Given the description of an element on the screen output the (x, y) to click on. 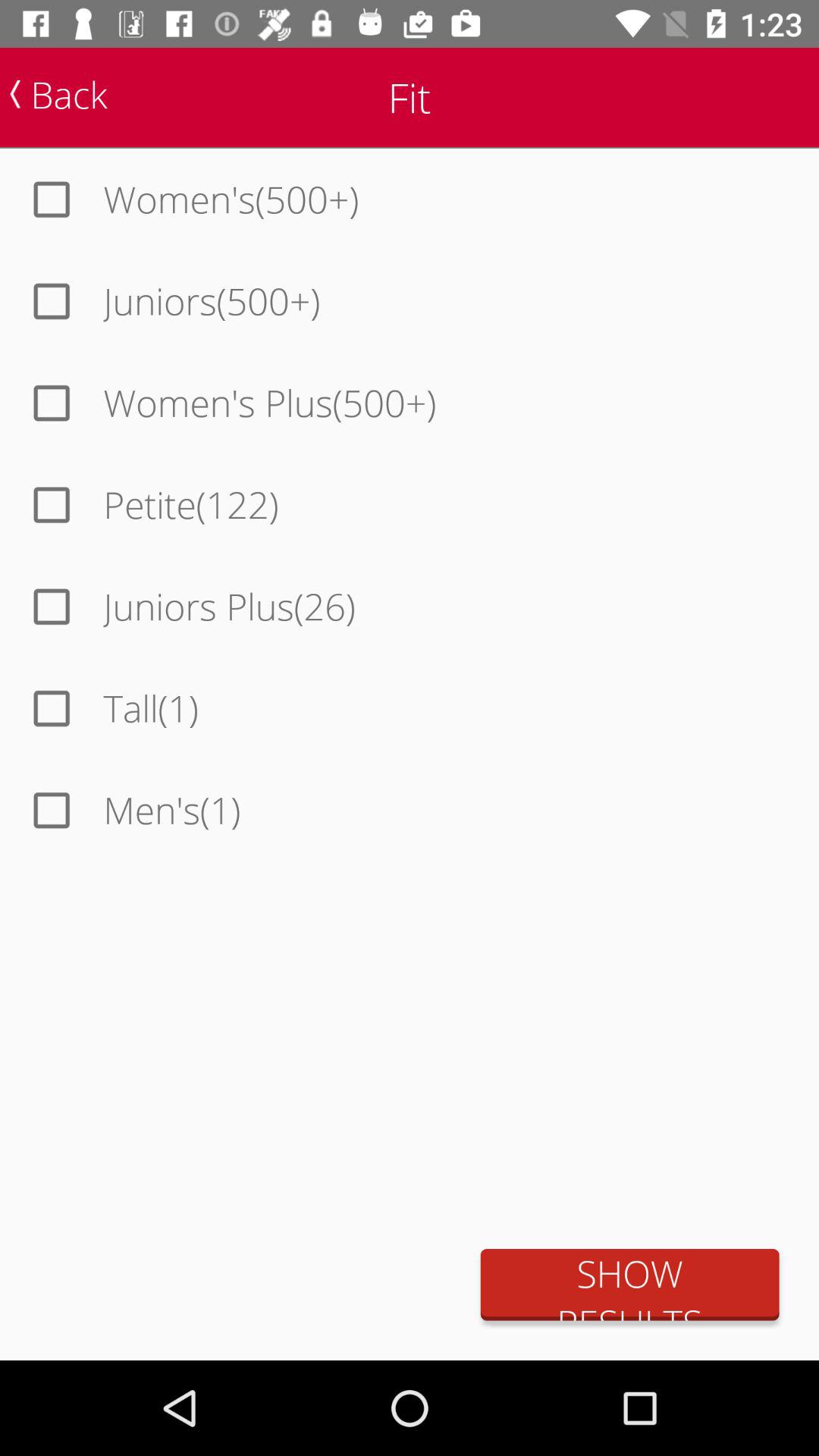
click the icon at the bottom right corner (629, 1284)
